Given the description of an element on the screen output the (x, y) to click on. 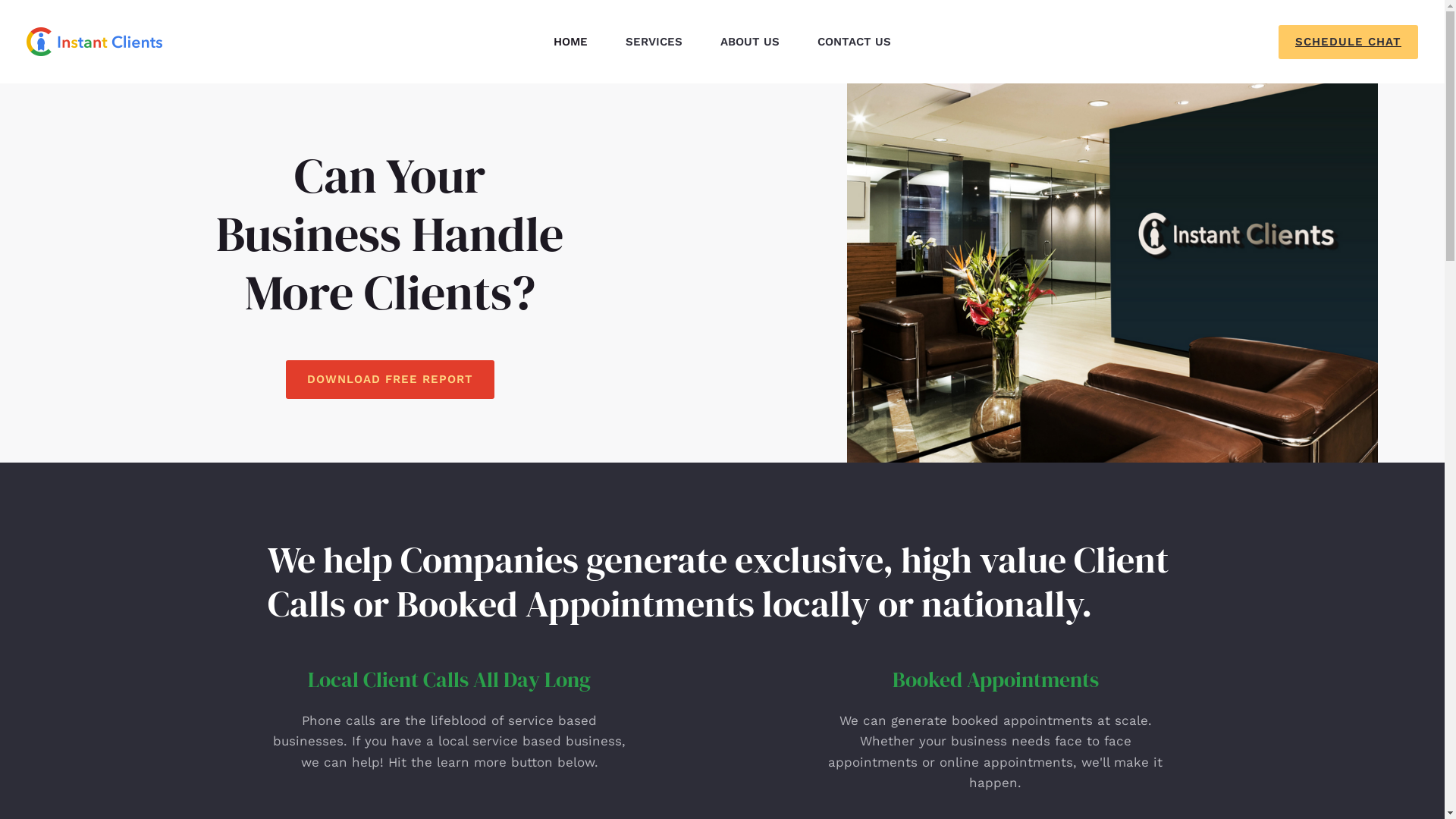
SERVICES Element type: text (653, 41)
ABOUT US Element type: text (749, 41)
CONTACT US Element type: text (854, 41)
DOWNLOAD FREE REPORT Element type: text (389, 379)
HOME Element type: text (570, 41)
SCHEDULE CHAT Element type: text (1348, 41)
